Given the description of an element on the screen output the (x, y) to click on. 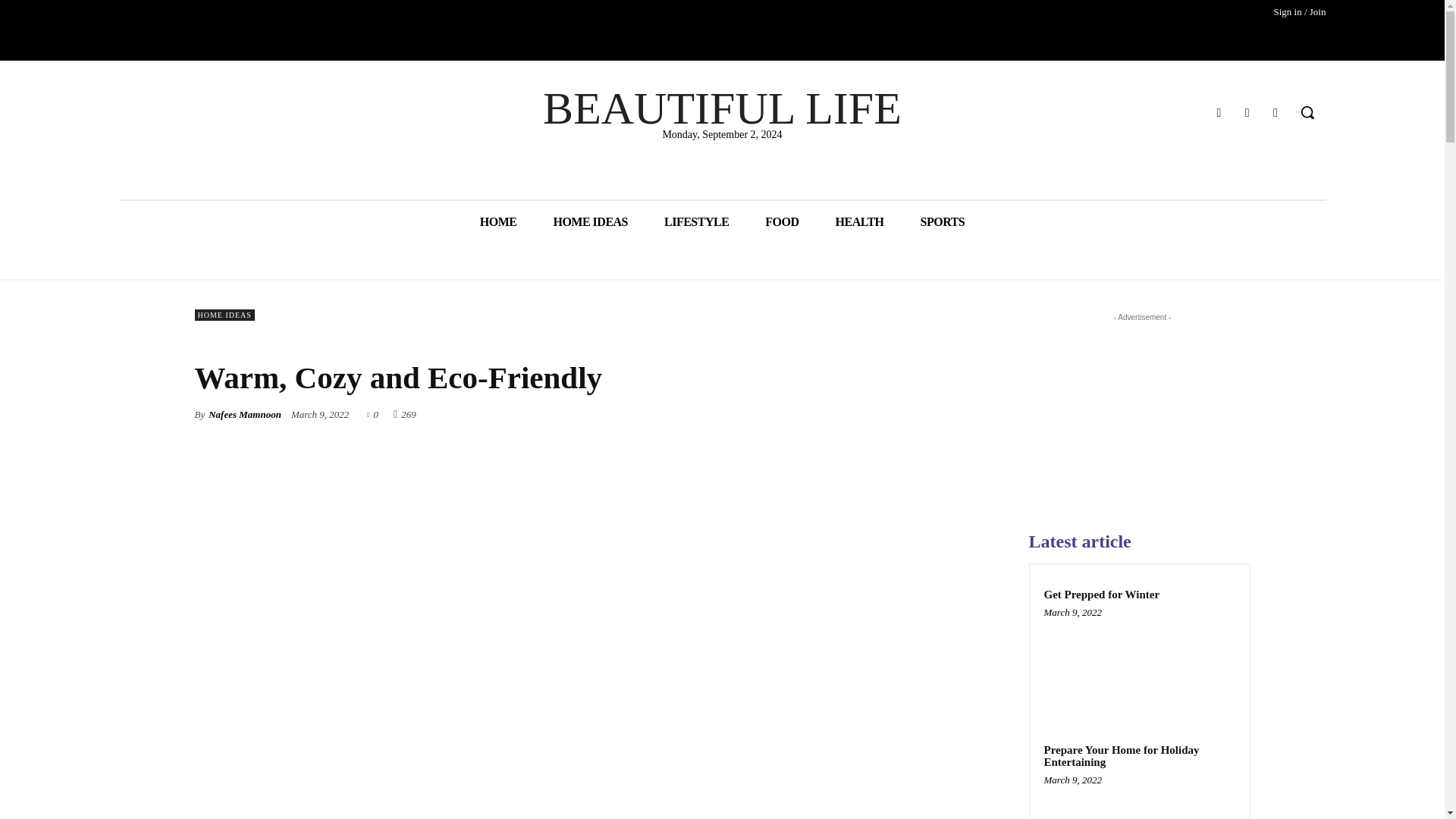
Youtube (1275, 112)
FOOD (781, 221)
BEAUTIFUL LIFE (721, 108)
HOME IDEAS (590, 221)
HOME (498, 221)
Facebook (1218, 112)
HOME IDEAS (223, 315)
SPORTS (943, 221)
Twitter (1246, 112)
HEALTH (859, 221)
